Given the description of an element on the screen output the (x, y) to click on. 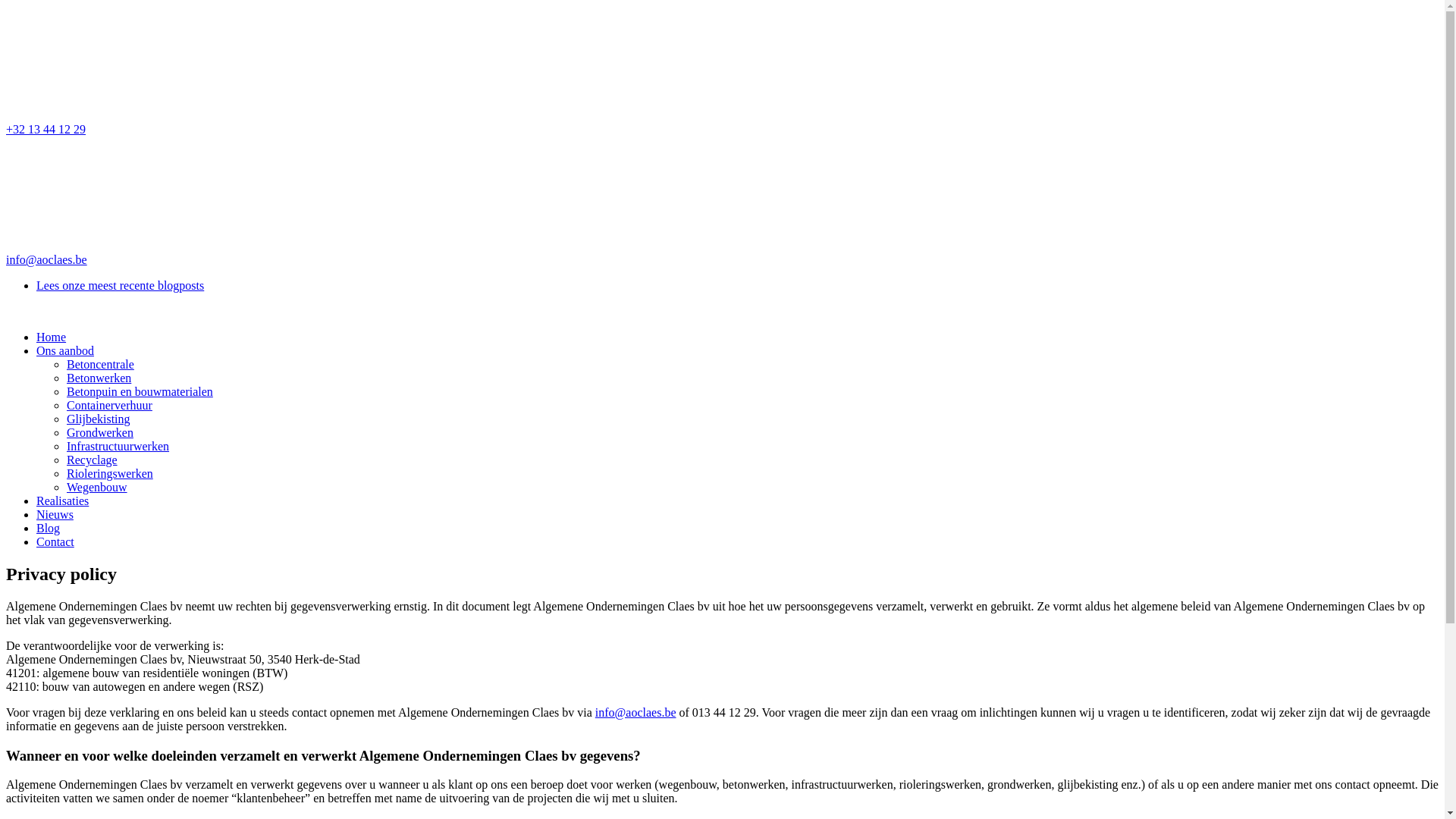
Betonwerken Element type: text (98, 377)
Grondwerken Element type: text (99, 432)
Ons aanbod Element type: text (65, 350)
info@aoclaes.be Element type: text (722, 201)
Rioleringswerken Element type: text (109, 473)
+32 13 44 12 29 Element type: text (722, 71)
Contact Element type: text (55, 541)
Lees onze meest recente blogposts Element type: text (119, 285)
Recyclage Element type: text (91, 459)
Wegenbouw Element type: text (96, 486)
Home Element type: text (50, 336)
Nieuws Element type: text (54, 514)
Betoncentrale Element type: text (100, 363)
info@aoclaes.be Element type: text (635, 712)
Realisaties Element type: text (62, 500)
Containerverhuur Element type: text (109, 404)
Infrastructuurwerken Element type: text (117, 445)
Glijbekisting Element type: text (98, 418)
Blog Element type: text (47, 527)
Betonpuin en bouwmaterialen Element type: text (139, 391)
